Given the description of an element on the screen output the (x, y) to click on. 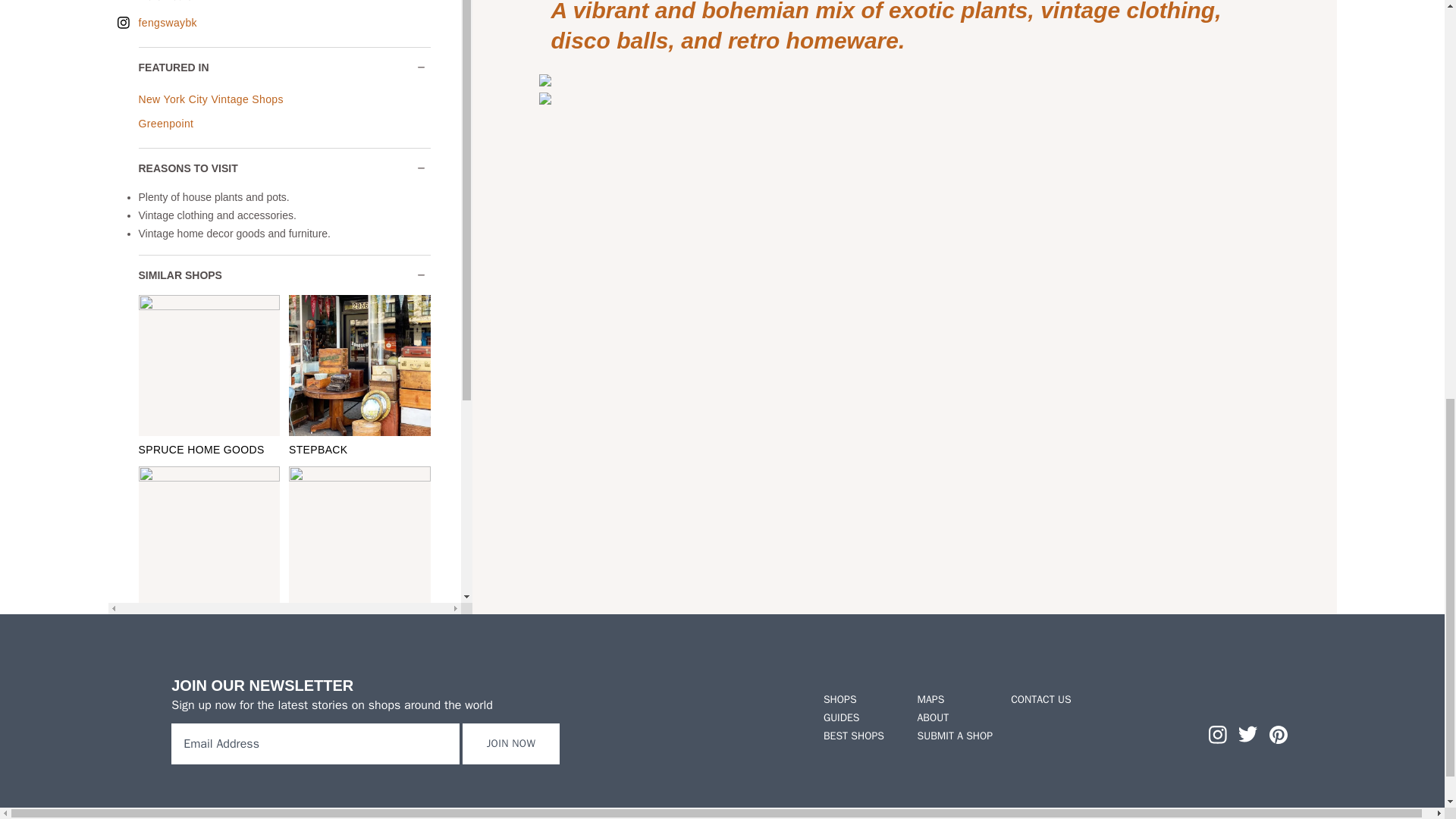
REASONS TO VISIT (283, 168)
GUIDES (861, 717)
Greenpoint (165, 123)
SHOPS (861, 699)
SIMILAR SHOPS (283, 274)
SUBMIT A SHOP (954, 735)
ABOUT (954, 717)
New York City Vintage Shops (210, 99)
JOIN NOW (511, 743)
More Hours (259, 2)
